Given the description of an element on the screen output the (x, y) to click on. 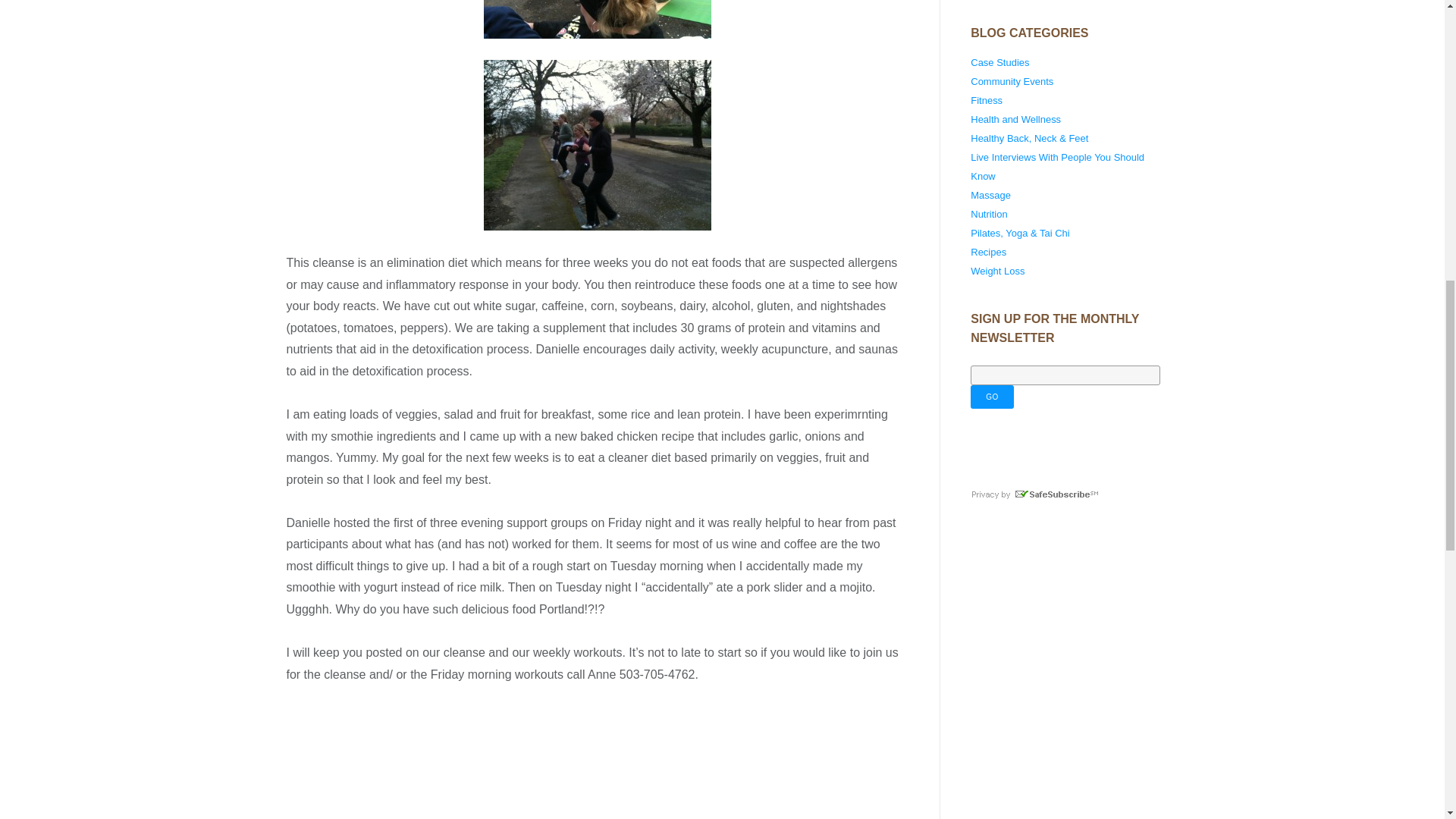
Cleanse Workout - Step up 3.12 (597, 144)
GO (992, 396)
Cleanse workout - boat 3.12 (597, 19)
